Given the description of an element on the screen output the (x, y) to click on. 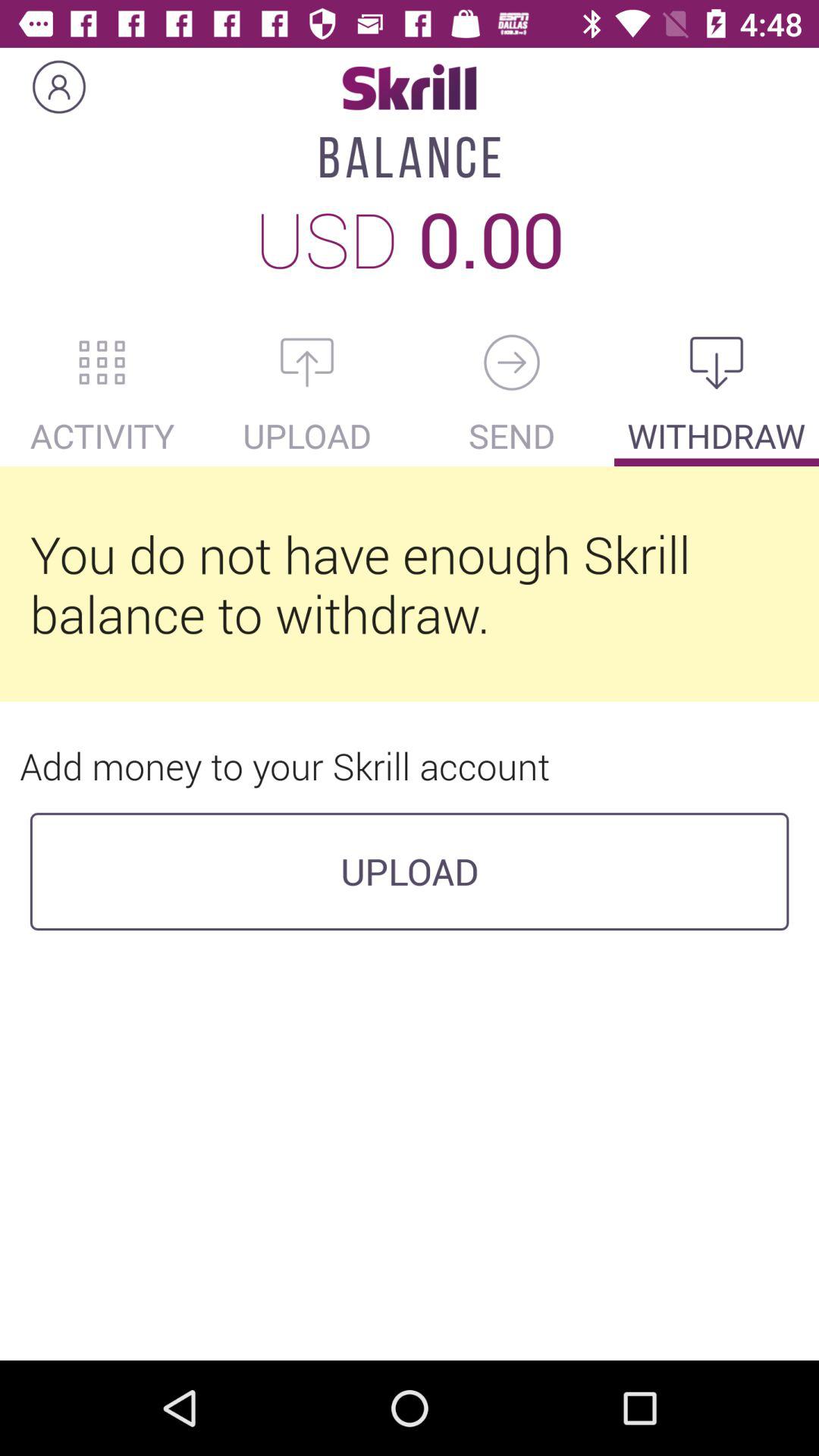
open (306, 362)
